Given the description of an element on the screen output the (x, y) to click on. 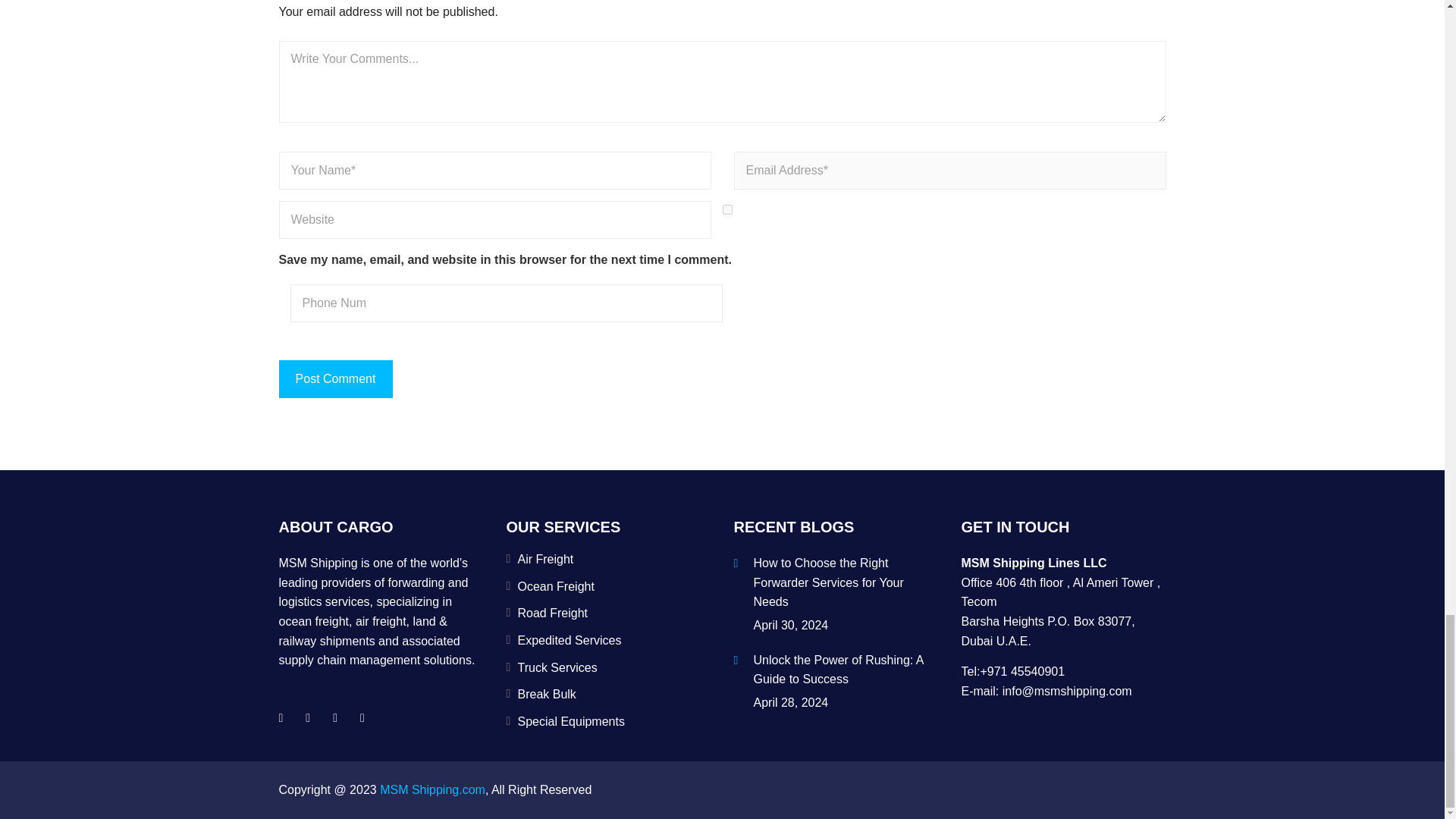
Instagram (362, 717)
Linkedin (335, 717)
Twitter (307, 717)
yes (727, 209)
Post Comment (336, 379)
Facebook (280, 717)
Unlock the Power of Rushing: A Guide to Success (846, 671)
How to Choose the Right Forwarder Services for Your Needs (846, 584)
